Given the description of an element on the screen output the (x, y) to click on. 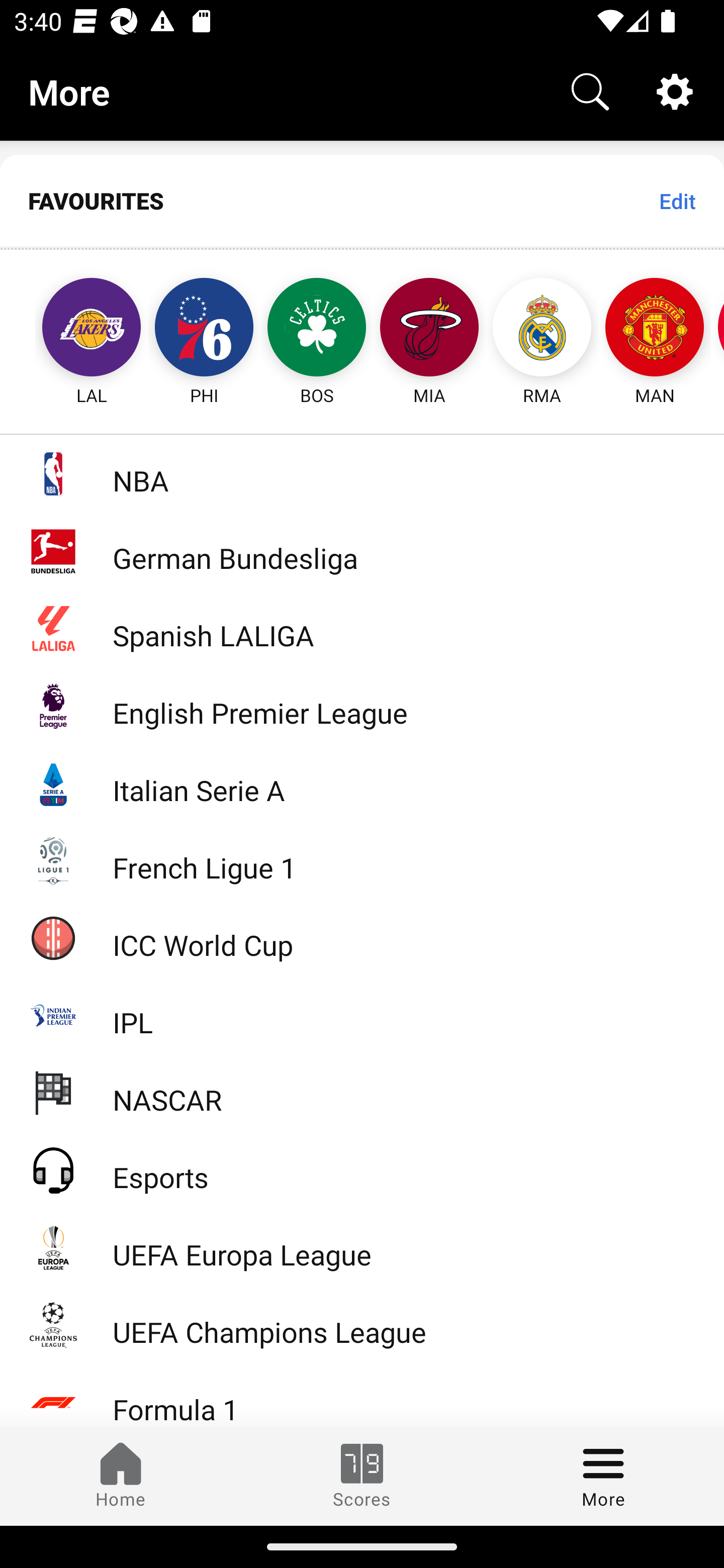
Search (590, 90)
Settings (674, 90)
Edit (676, 200)
LAL Los Angeles Lakers (73, 328)
PHI Philadelphia 76ers (203, 328)
BOS Boston Celtics (316, 328)
MIA Miami Heat (428, 328)
RMA Real Madrid (541, 328)
MAN Manchester United (654, 328)
NBA (362, 473)
German Bundesliga (362, 550)
Spanish LALIGA (362, 627)
English Premier League (362, 705)
Italian Serie A (362, 782)
French Ligue 1 (362, 859)
ICC World Cup (362, 937)
IPL (362, 1014)
NASCAR (362, 1091)
Esports (362, 1169)
UEFA Europa League (362, 1246)
UEFA Champions League (362, 1324)
Home (120, 1475)
Scores (361, 1475)
